Given the description of an element on the screen output the (x, y) to click on. 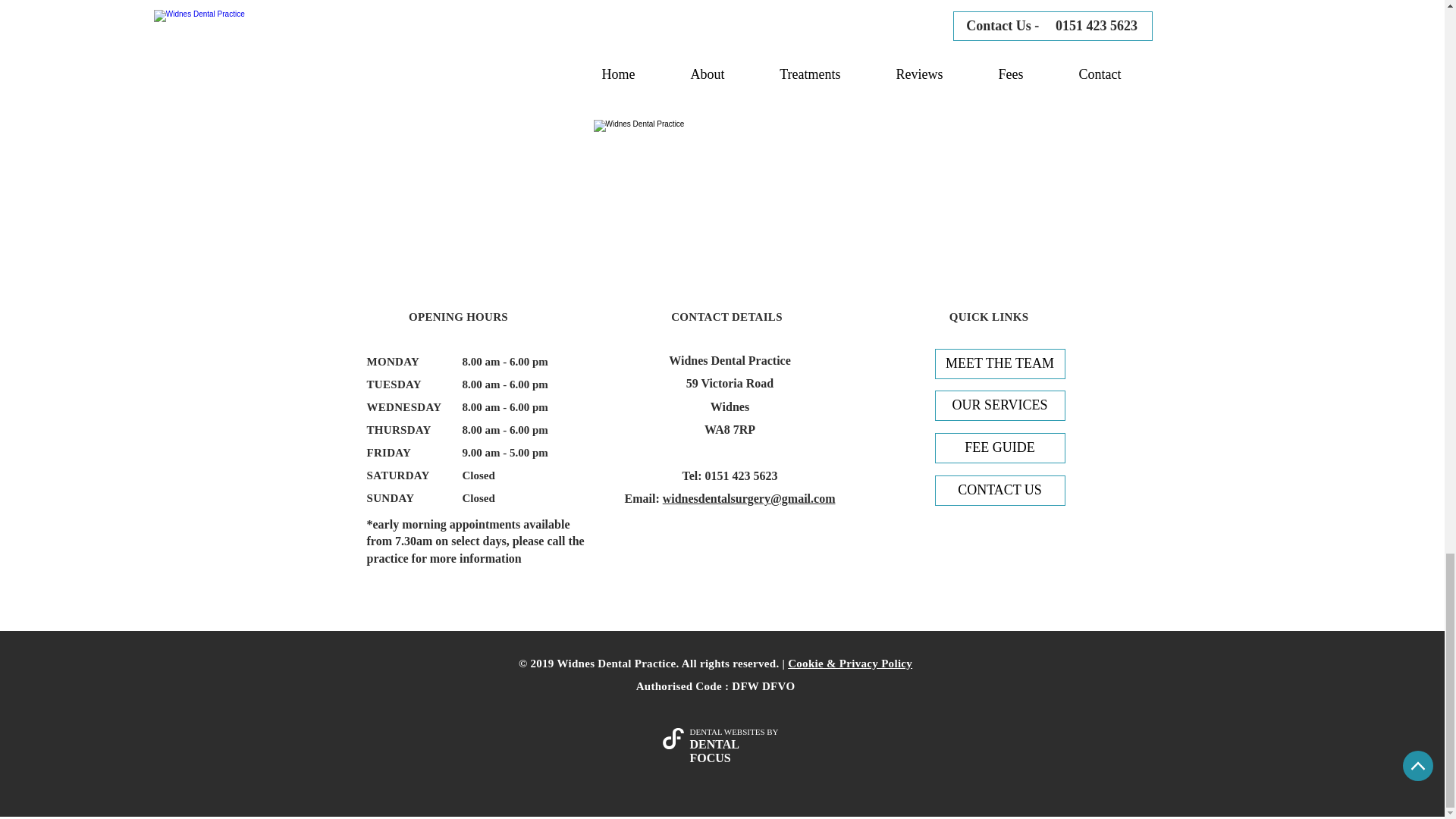
MEET THE TEAM (999, 363)
DENTAL FOCUS (714, 750)
FEE GUIDE (999, 448)
OUR SERVICES (999, 405)
DENTAL WEBSITES (727, 731)
CONTACT US (999, 490)
0151 423 5623 (740, 475)
